Given the description of an element on the screen output the (x, y) to click on. 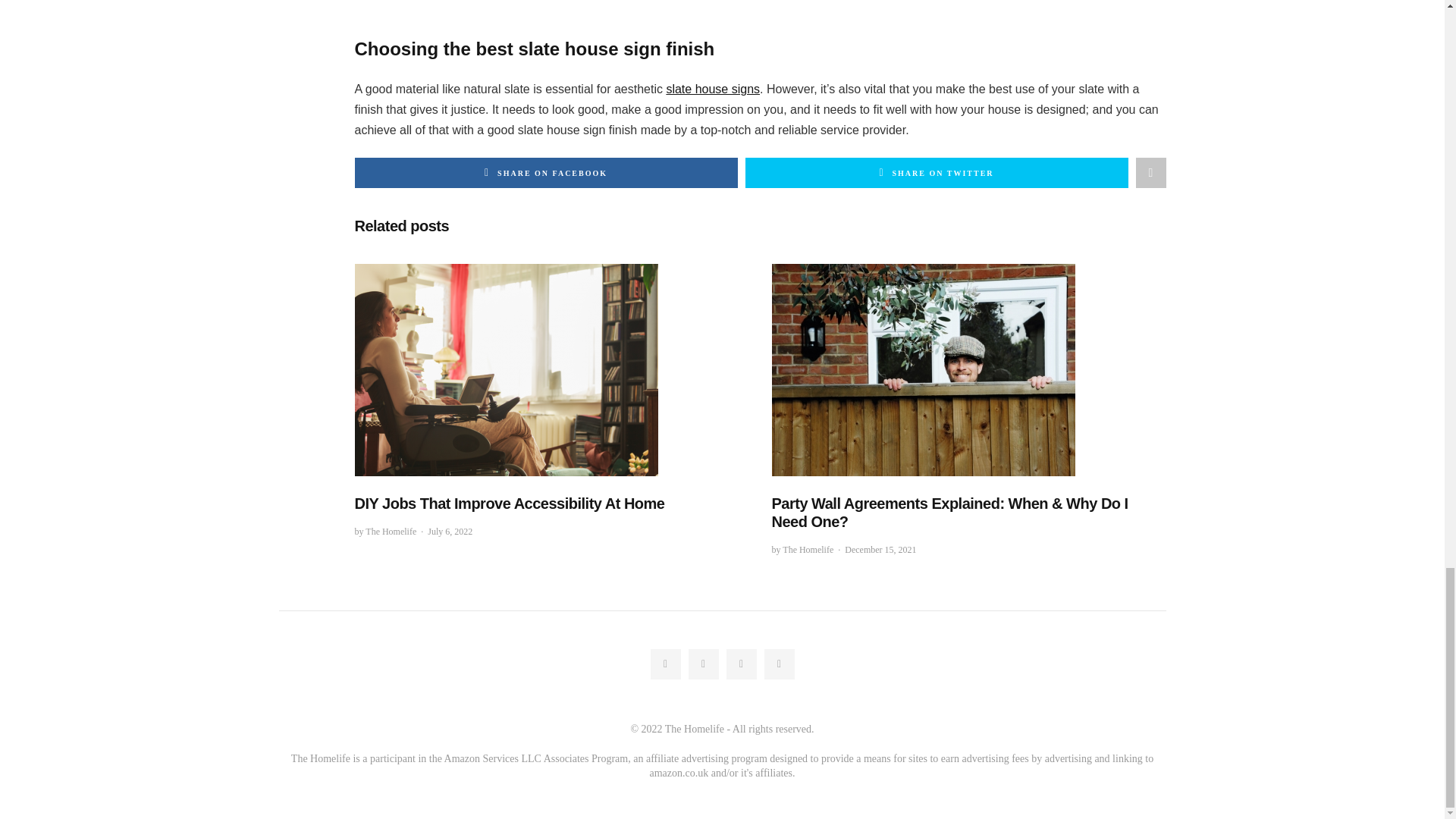
facebook (665, 664)
Tweet (935, 173)
Share this (546, 173)
Posts by The Homelife (390, 531)
Posts by The Homelife (807, 549)
Share (1150, 173)
